Given the description of an element on the screen output the (x, y) to click on. 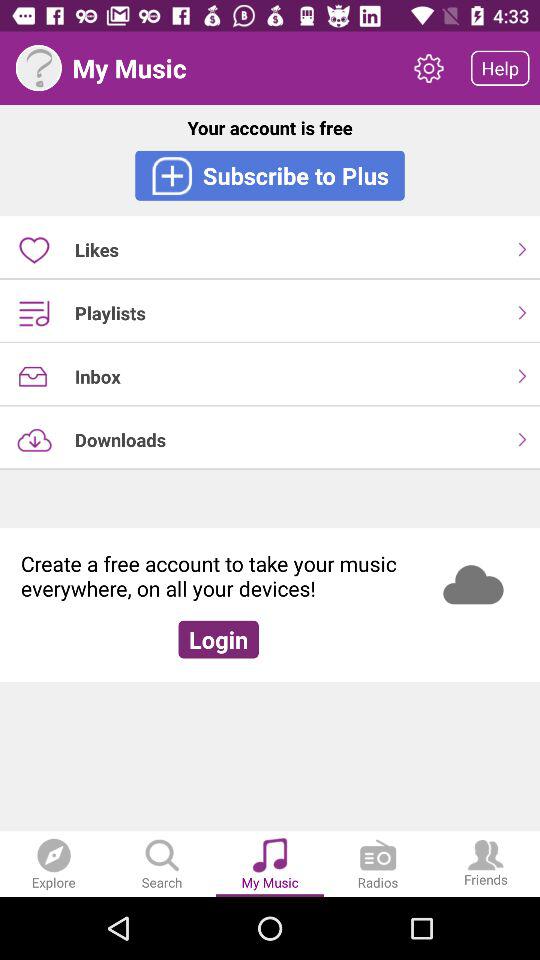
launch item above your account is (38, 68)
